Given the description of an element on the screen output the (x, y) to click on. 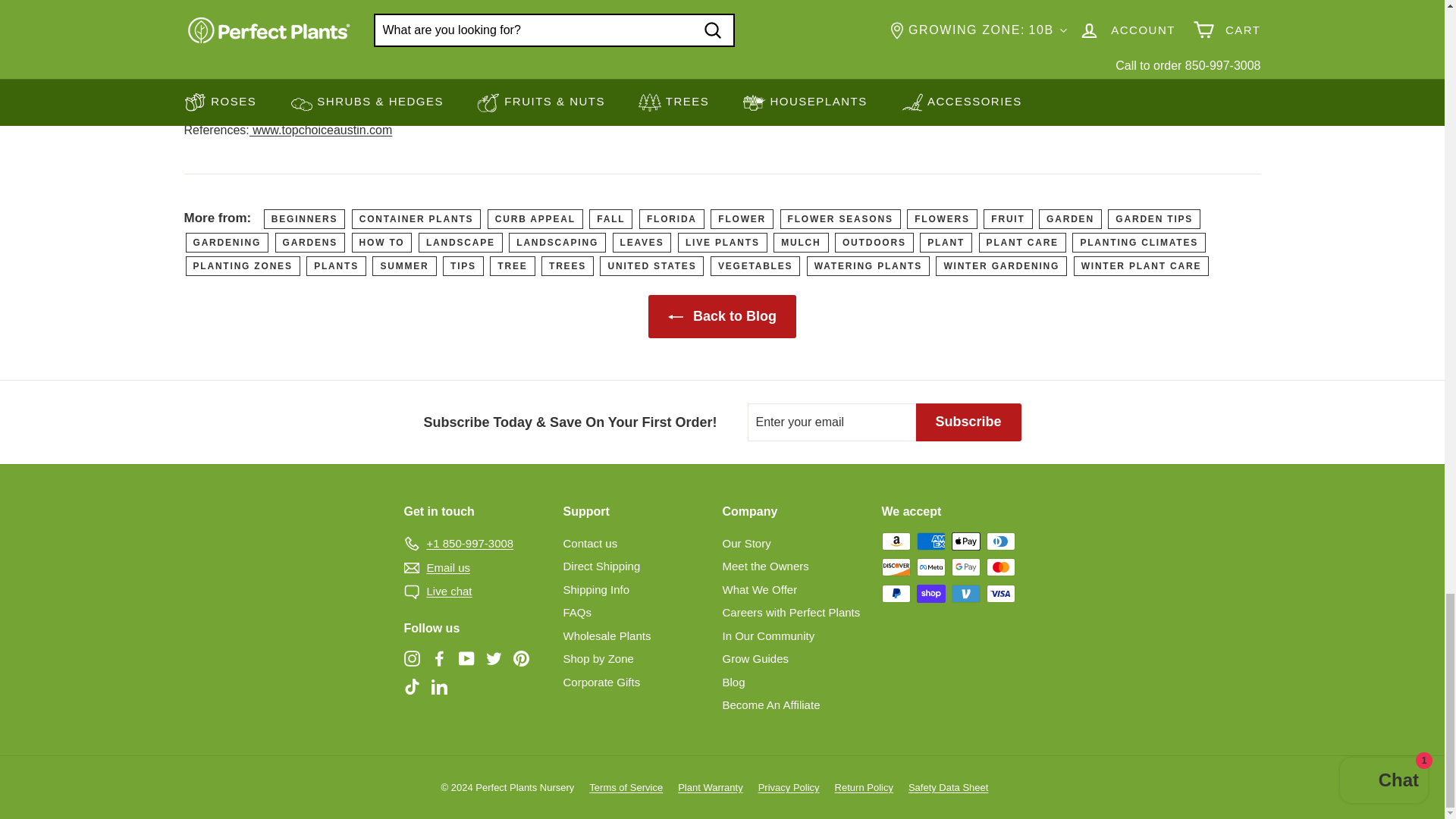
Perfect Plants Nursery on Instagram (411, 657)
Perfect Plants Nursery on Facebook (438, 657)
Perfect Plants Nursery on LinkedIn (438, 686)
Perfect Plants Nursery on YouTube (466, 657)
Perfect Plants Nursery on TikTok (411, 686)
Perfect Plants Nursery on Twitter (492, 657)
Perfect Plants Nursery on Pinterest (520, 657)
